Given the description of an element on the screen output the (x, y) to click on. 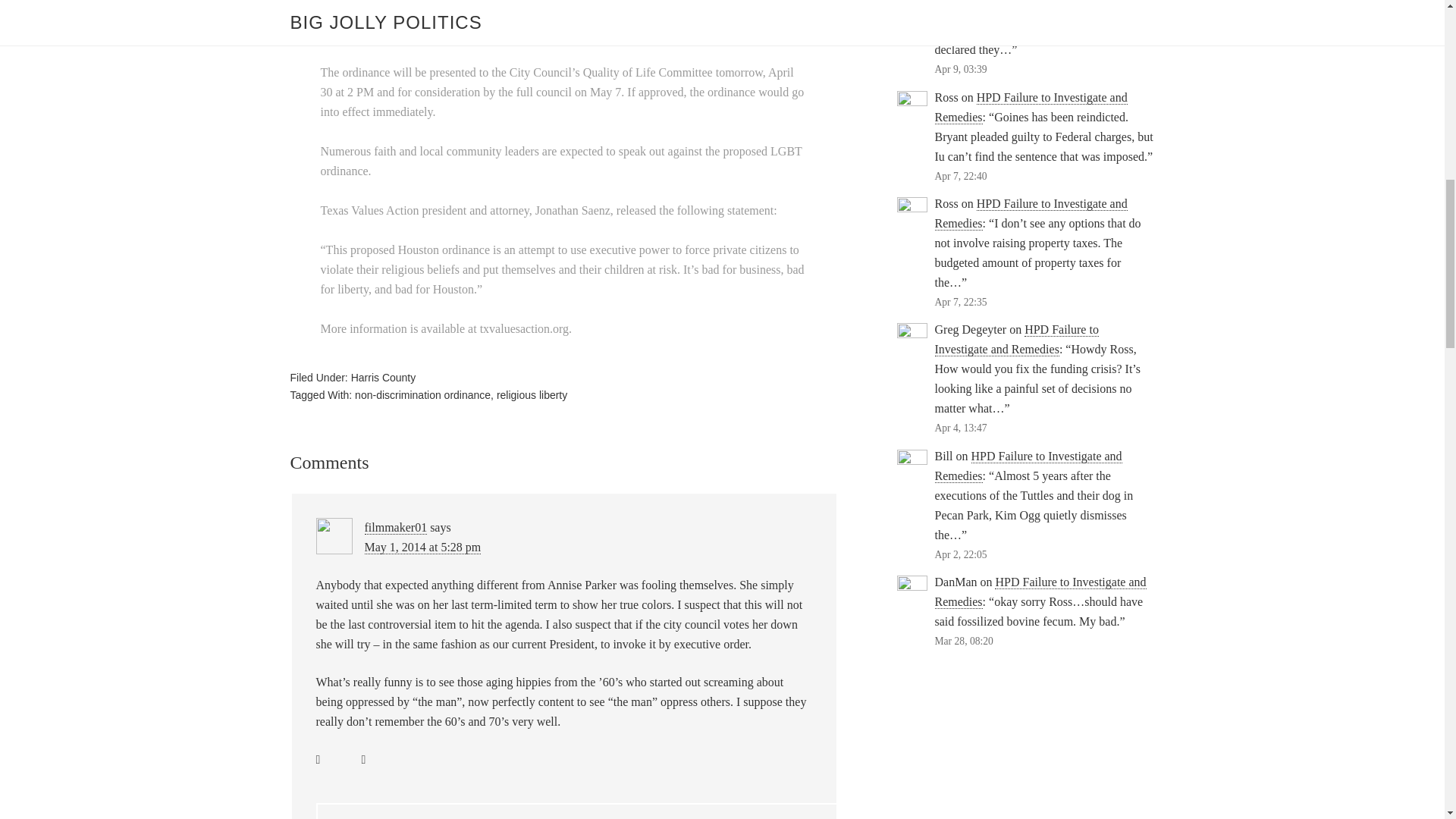
non-discrimination ordinance (422, 395)
May 1, 2014 at 5:28 pm (422, 547)
filmmaker01 (395, 527)
Harris County (383, 377)
religious liberty (531, 395)
